Given the description of an element on the screen output the (x, y) to click on. 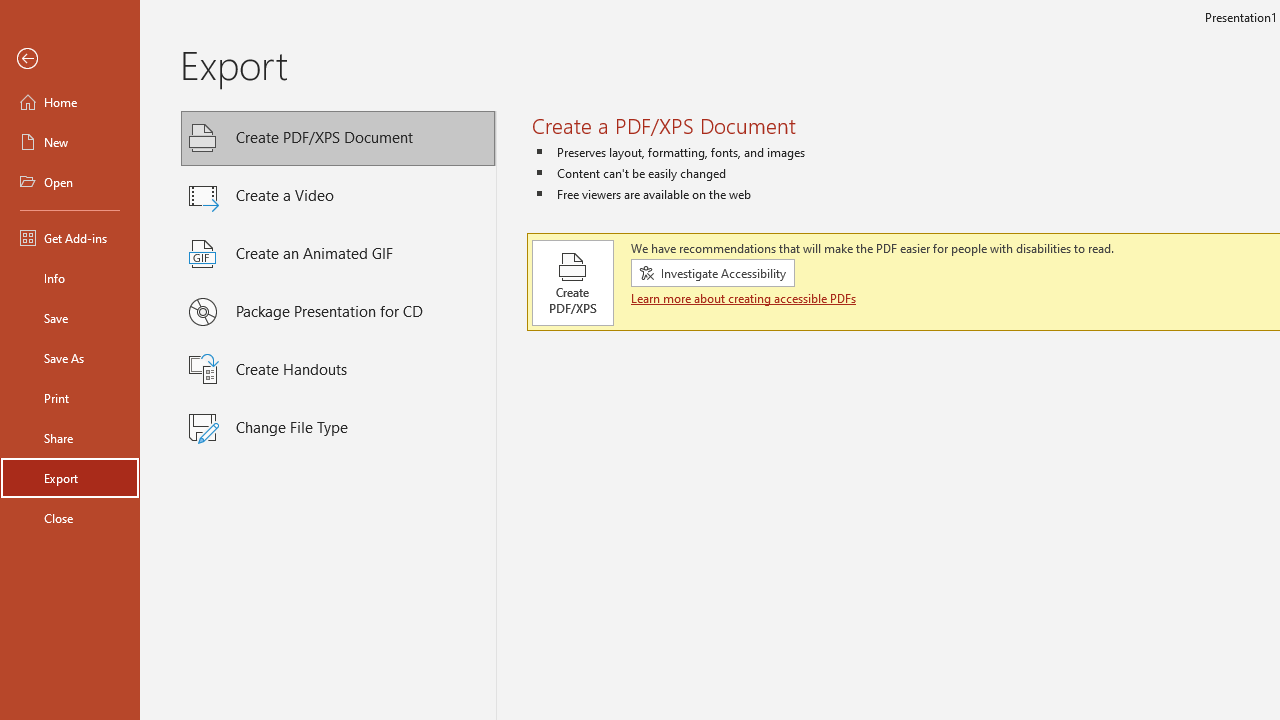
Print (69, 398)
Create PDF/XPS Document (338, 138)
Package Presentation for CD (338, 312)
Change File Type (338, 428)
Export (69, 477)
